Given the description of an element on the screen output the (x, y) to click on. 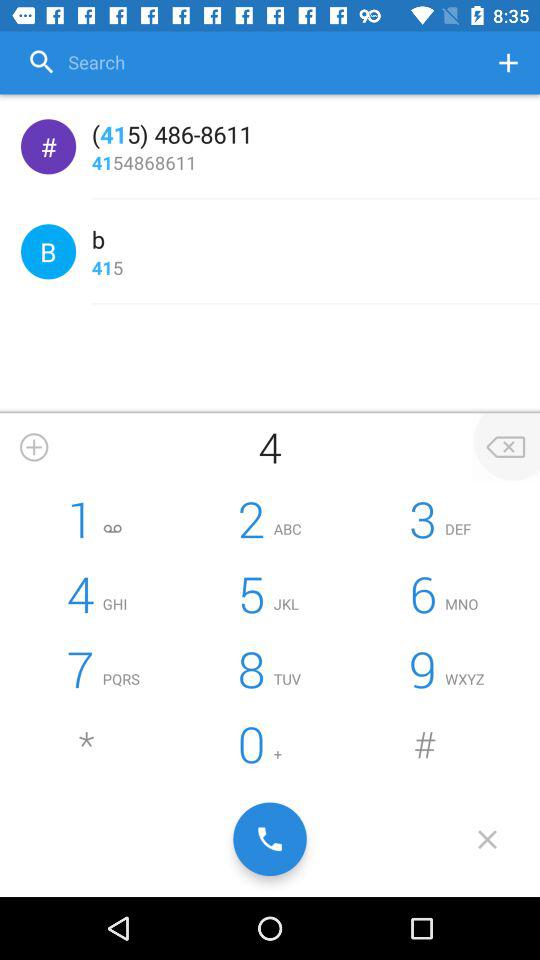
call the number entered (269, 839)
